Given the description of an element on the screen output the (x, y) to click on. 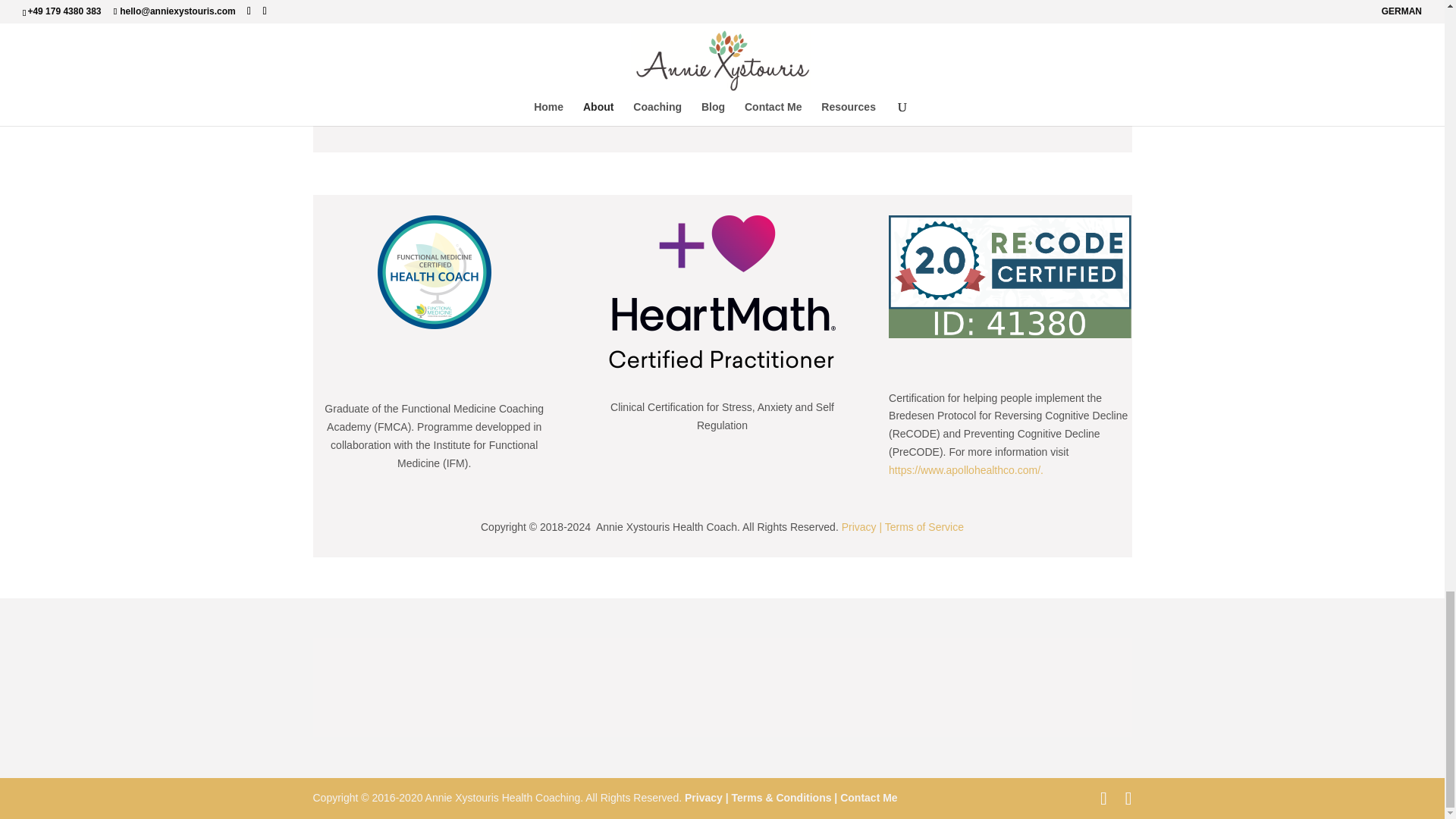
Contact Me (866, 797)
Terms of Service (924, 526)
41380-rgb-landscape (1009, 276)
HM-Cert Practitioner-v2-Stacked (721, 294)
